Given the description of an element on the screen output the (x, y) to click on. 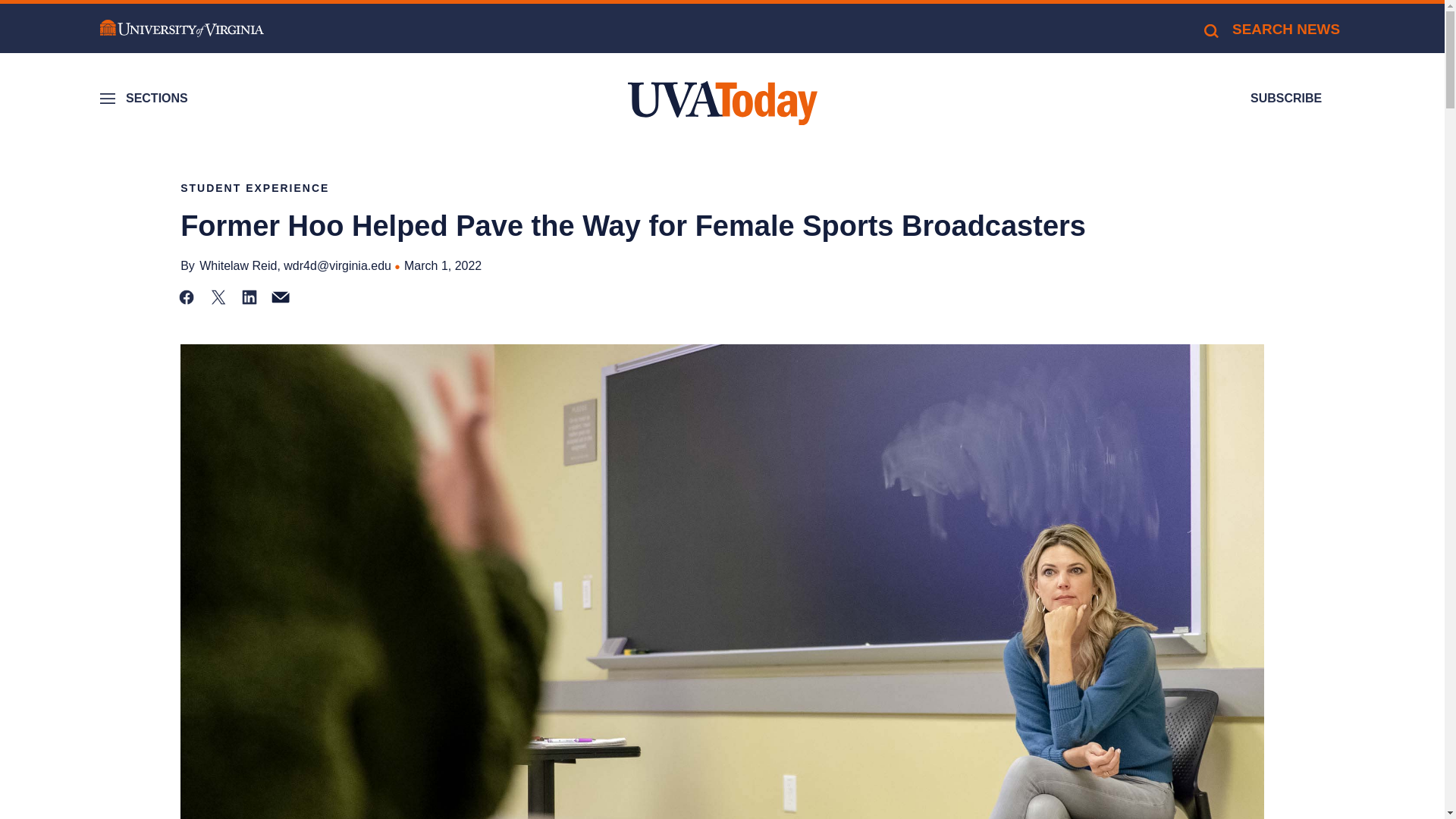
Whitelaw Reid, (240, 265)
University of Virginia Logo (181, 28)
SEARCH NEWS (1270, 28)
Home (721, 103)
SECTIONS (145, 98)
SUBSCRIBE (1286, 98)
